Given the description of an element on the screen output the (x, y) to click on. 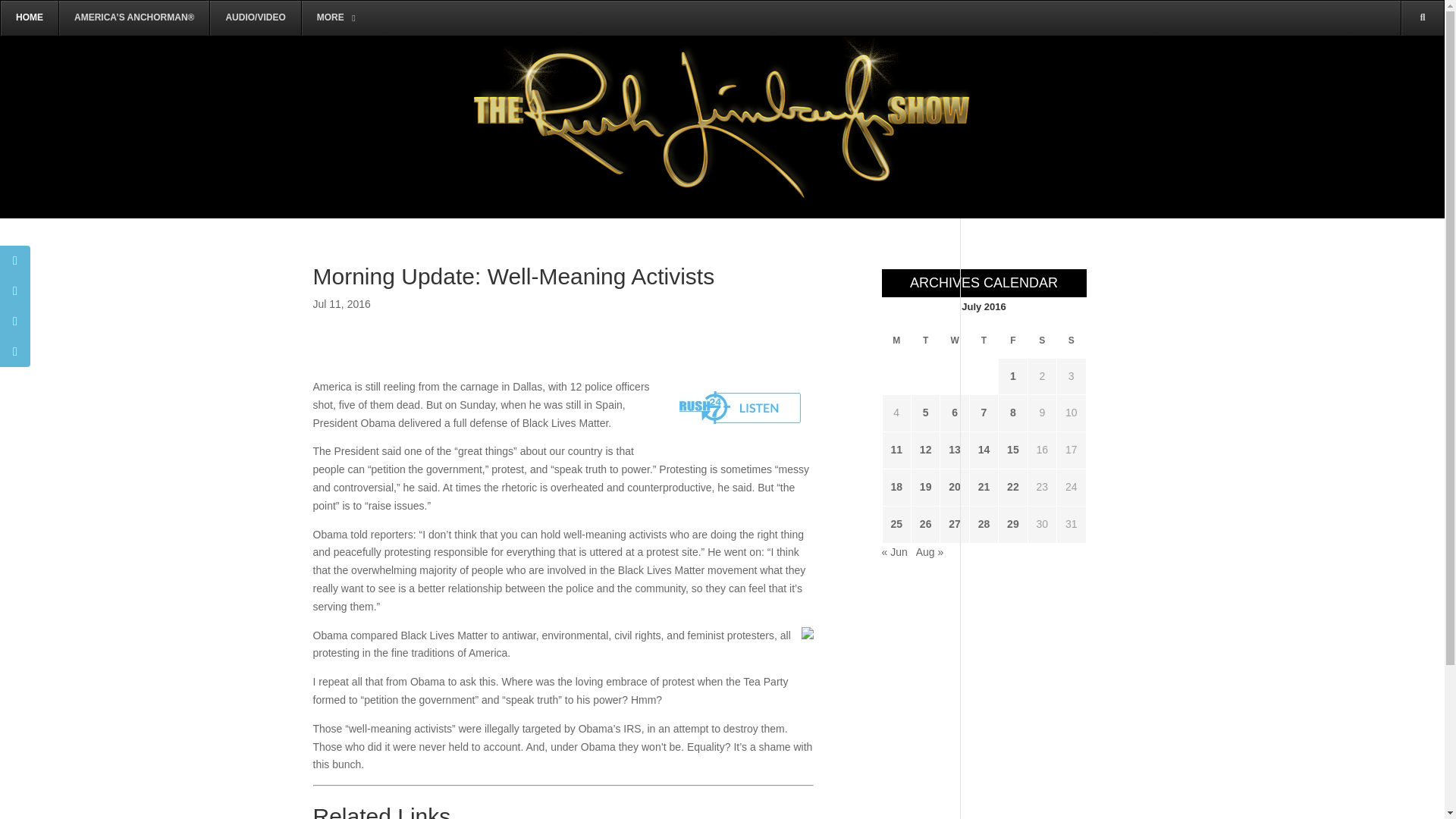
HOME (29, 18)
Search (1400, 87)
